Given the description of an element on the screen output the (x, y) to click on. 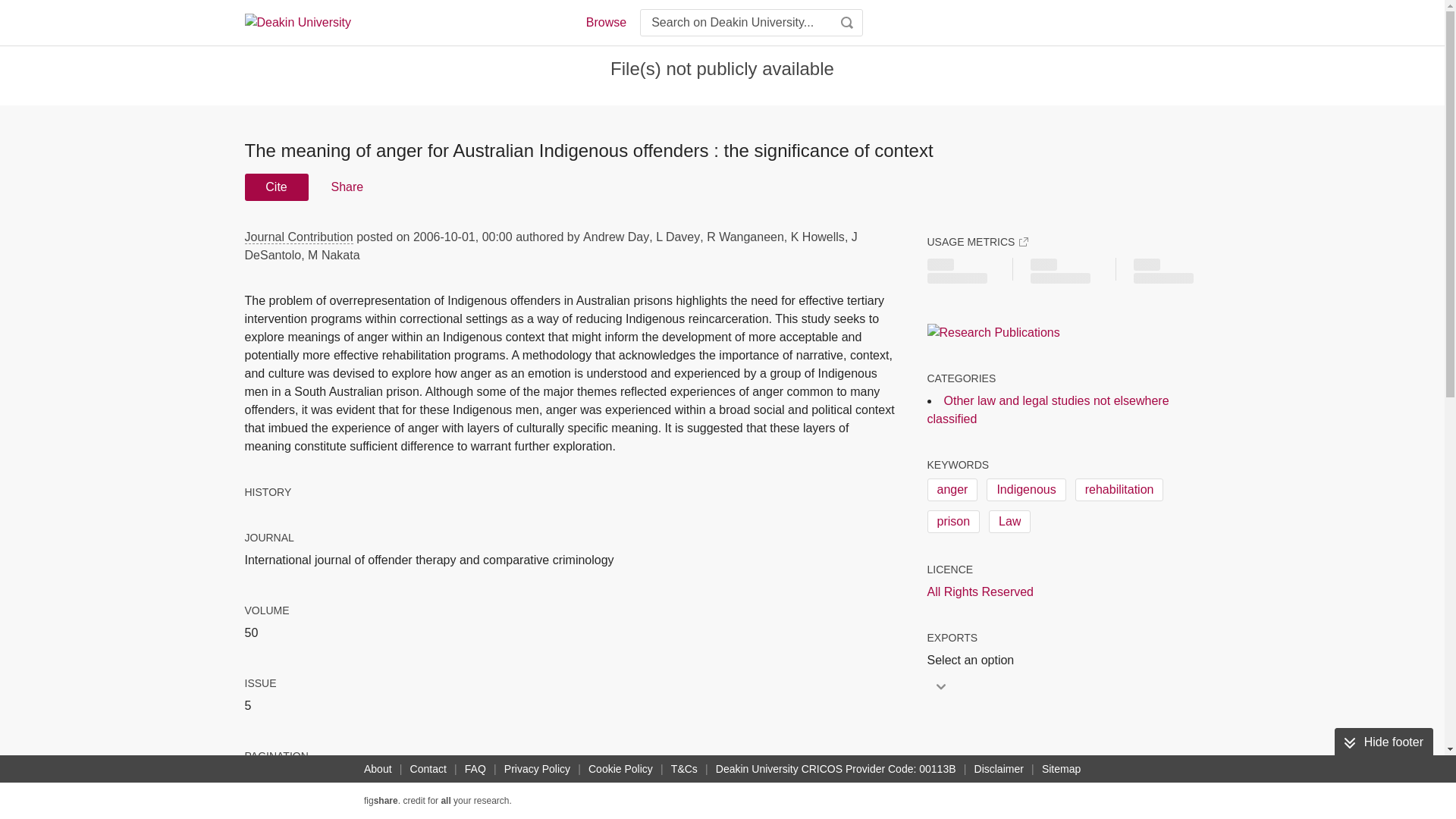
Privacy Policy (537, 769)
Sitemap (1060, 769)
prison (952, 521)
Contact (428, 769)
Browse (605, 22)
Law (1009, 521)
About (377, 769)
FAQ (475, 769)
Cookie Policy (620, 769)
Share (346, 186)
